Given the description of an element on the screen output the (x, y) to click on. 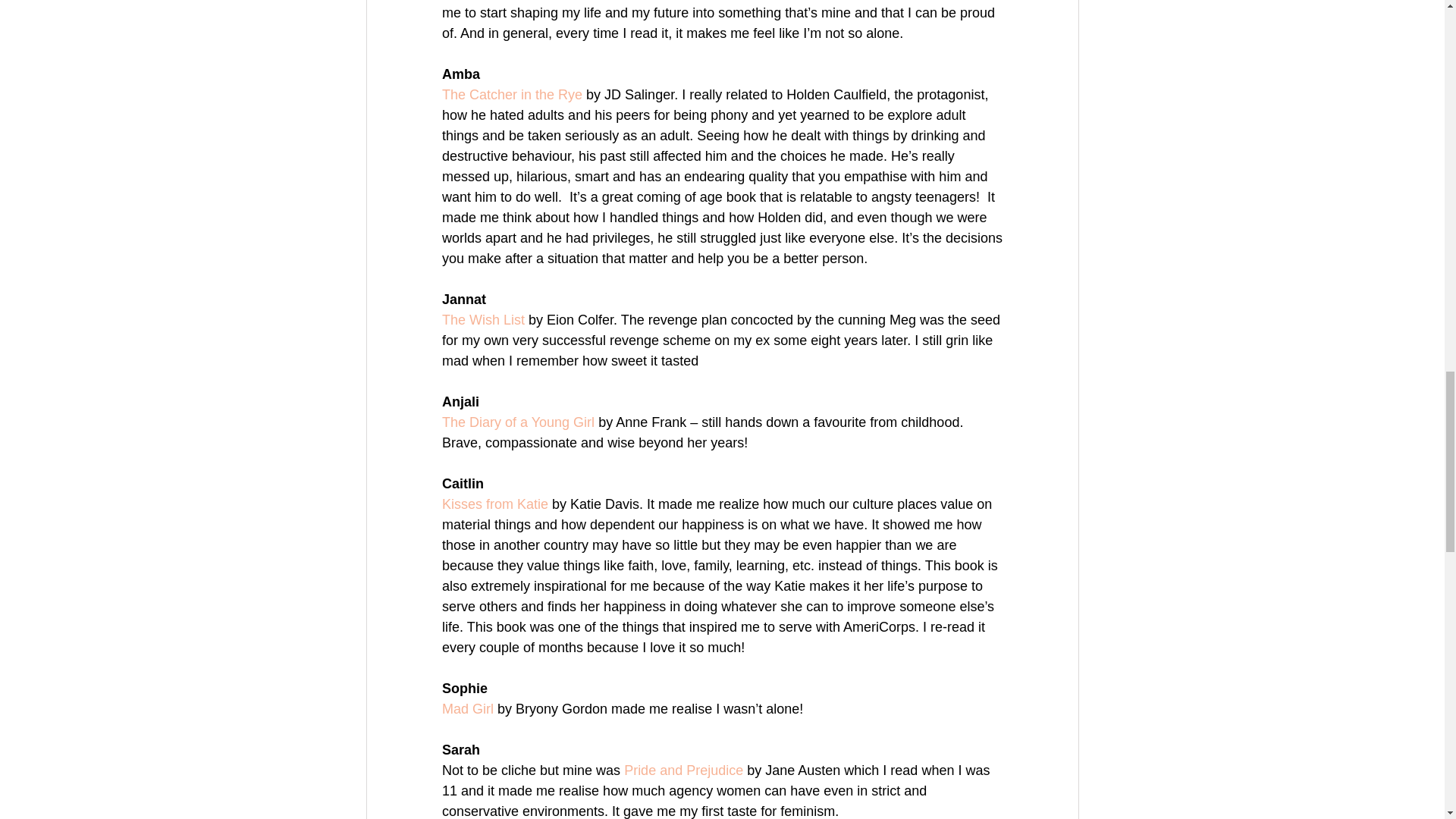
Kisses from Katie (494, 503)
The Diary of a Young Girl (517, 421)
Pride and Prejudice (683, 770)
The Catcher in the Rye (510, 94)
The Wish List (482, 319)
Mad Girl (467, 708)
